Given the description of an element on the screen output the (x, y) to click on. 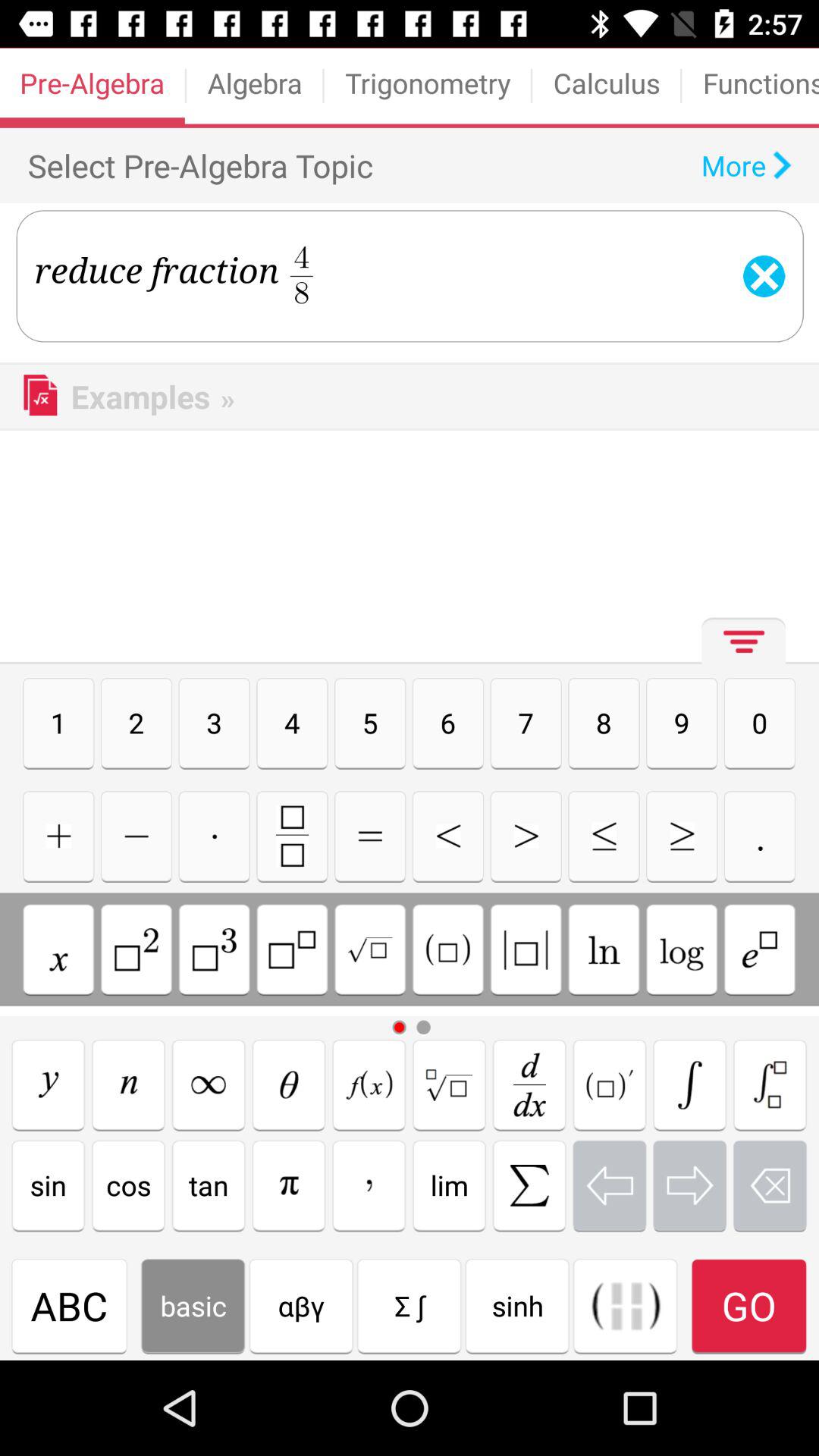
greater than or equal to (681, 835)
